Given the description of an element on the screen output the (x, y) to click on. 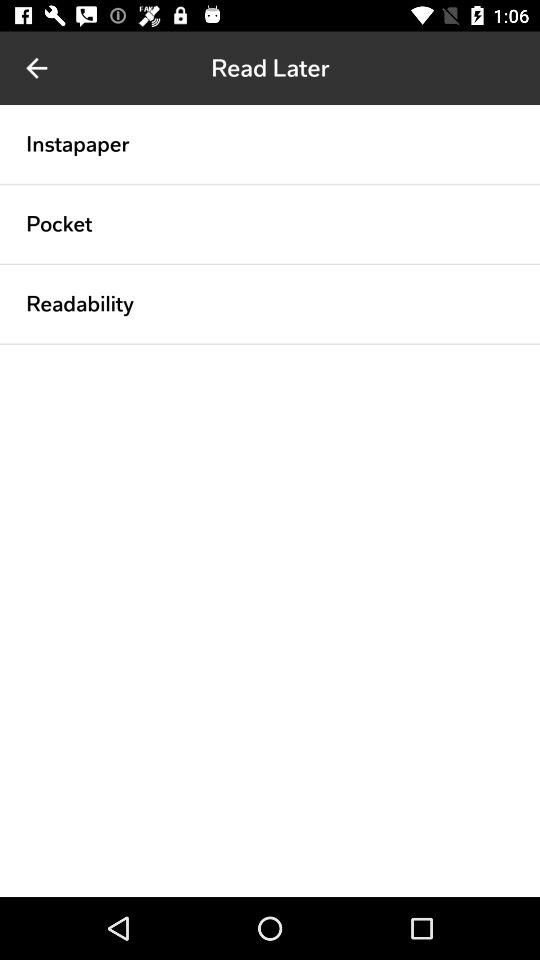
scroll until pocket item (59, 224)
